Given the description of an element on the screen output the (x, y) to click on. 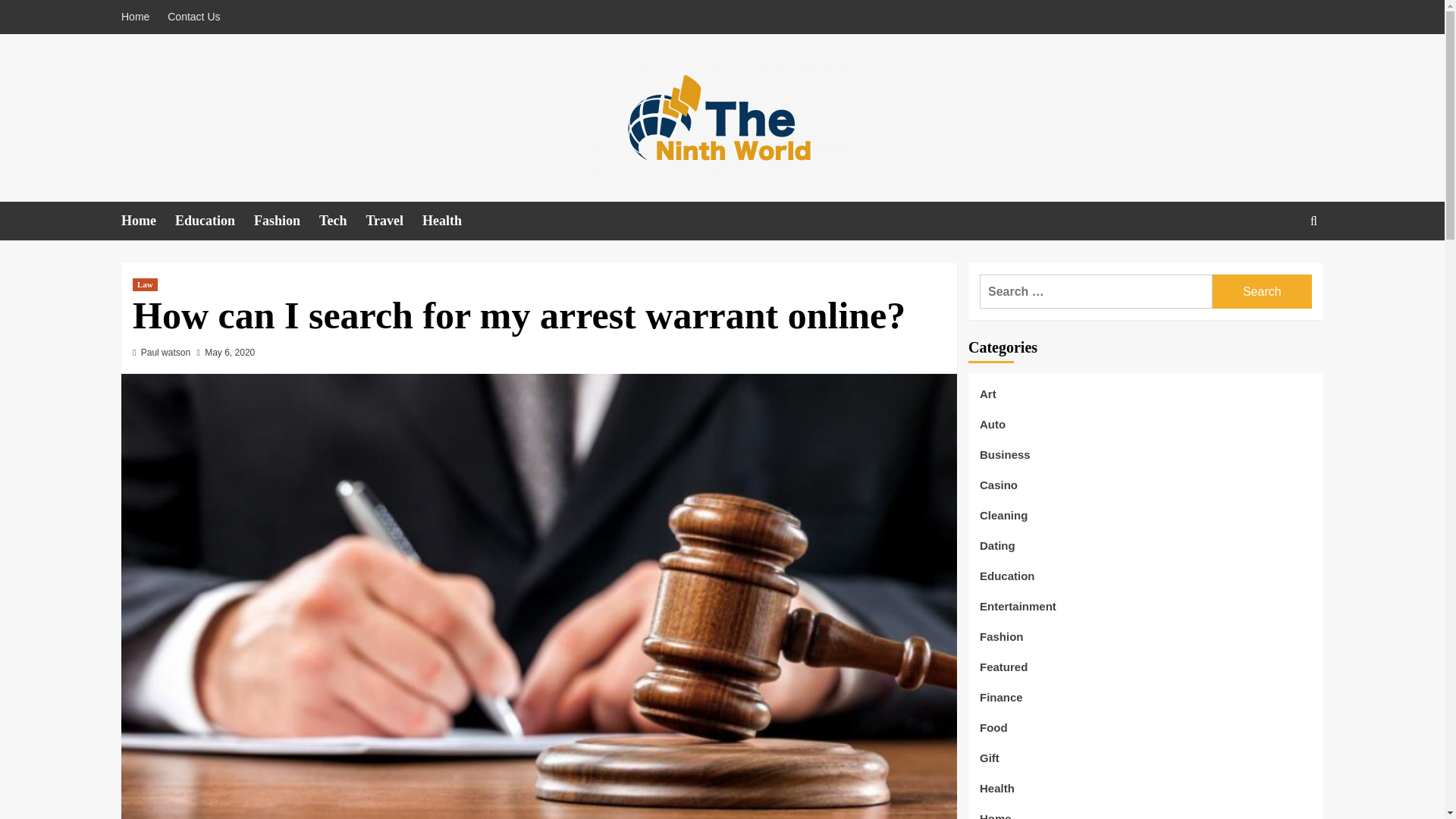
Paul watson (165, 352)
Law (144, 284)
Search (1261, 291)
Home (138, 17)
Travel (393, 220)
Fashion (285, 220)
Search (1278, 267)
Tech (341, 220)
May 6, 2020 (229, 352)
Contact Us (193, 17)
Health (451, 220)
Education (213, 220)
Search (1261, 291)
Home (147, 220)
Search (1261, 291)
